Given the description of an element on the screen output the (x, y) to click on. 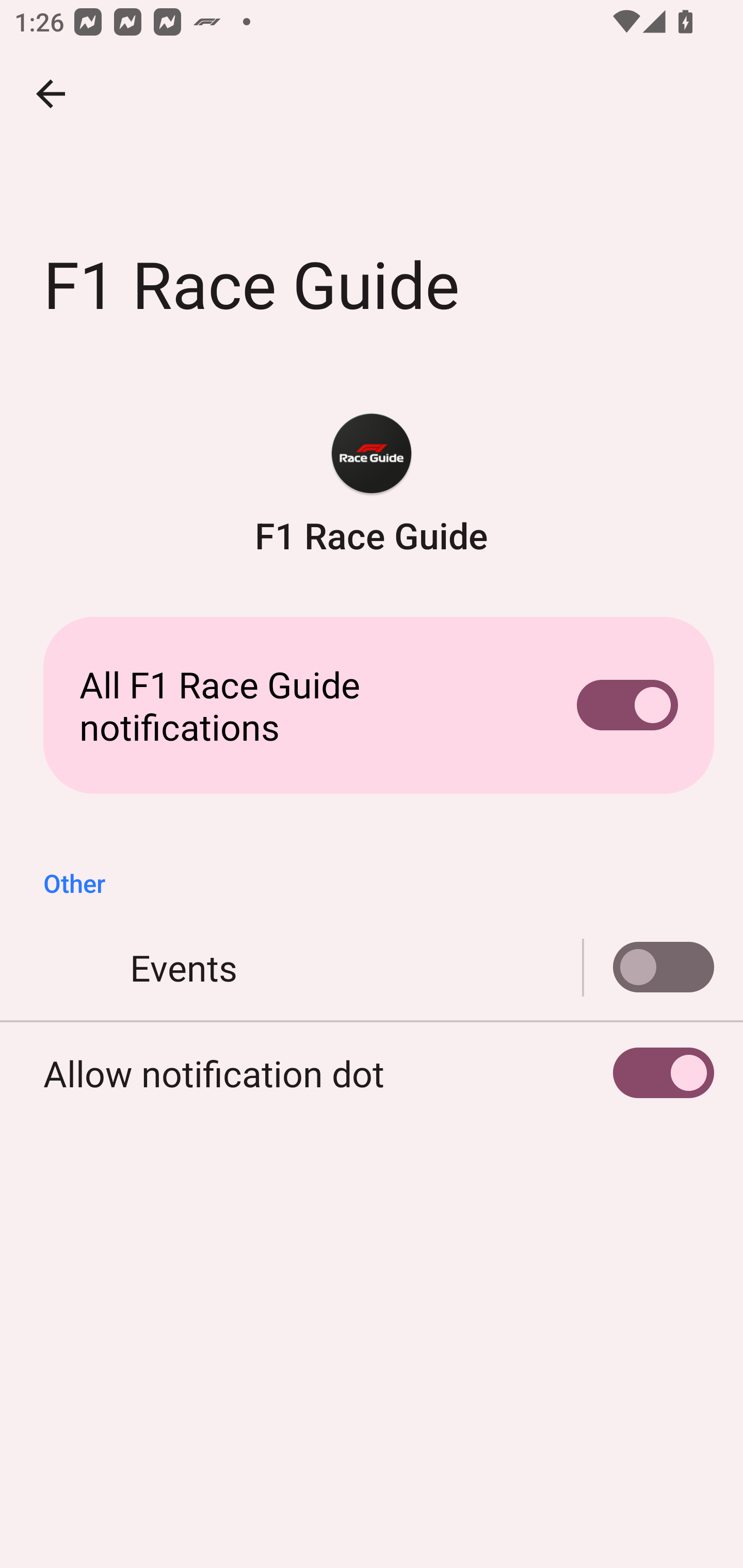
Navigate up (50, 93)
F1 Race Guide (371, 484)
All F1 Race Guide notifications (371, 705)
Events (371, 967)
Events (648, 967)
Allow notification dot (371, 1072)
